Given the description of an element on the screen output the (x, y) to click on. 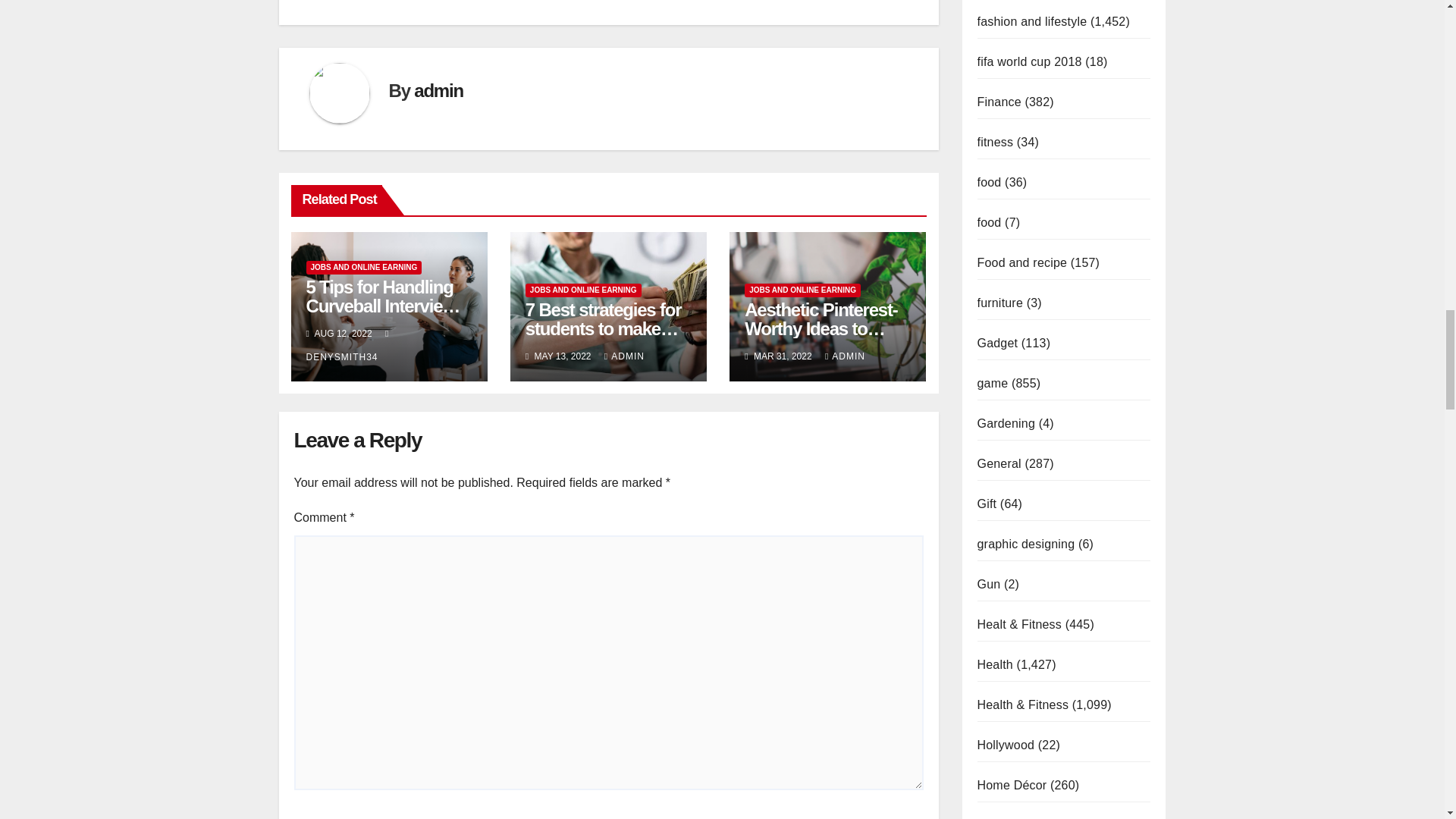
DENYSMITH34 (349, 345)
admin (438, 90)
JOBS AND ONLINE EARNING (363, 267)
5 Tips for Handling Curveball Interview Questions (383, 305)
